Given the description of an element on the screen output the (x, y) to click on. 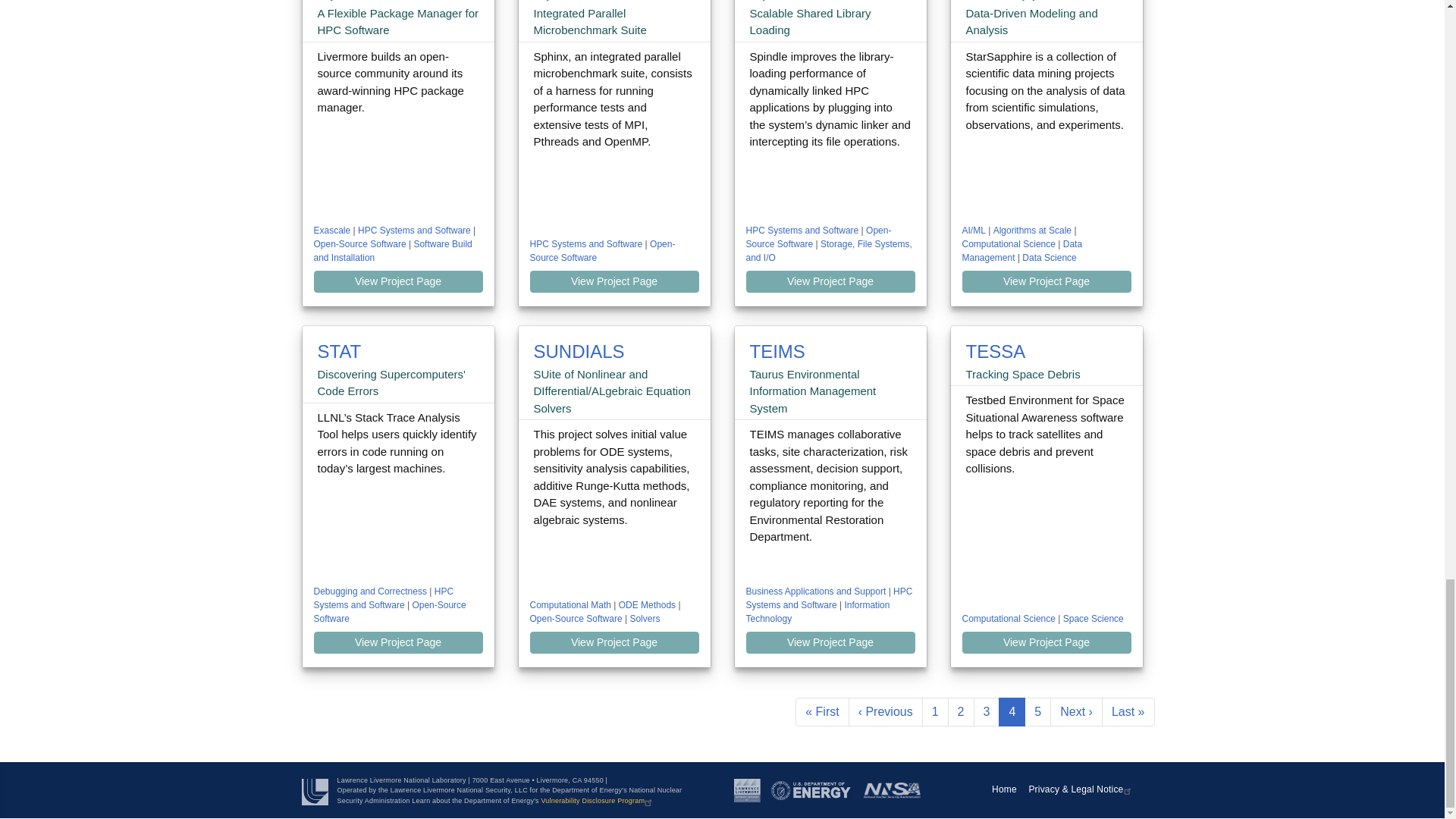
Go to next page (1075, 711)
Go to last page (1128, 711)
Go to previous page (885, 711)
Go to first page (821, 711)
